Given the description of an element on the screen output the (x, y) to click on. 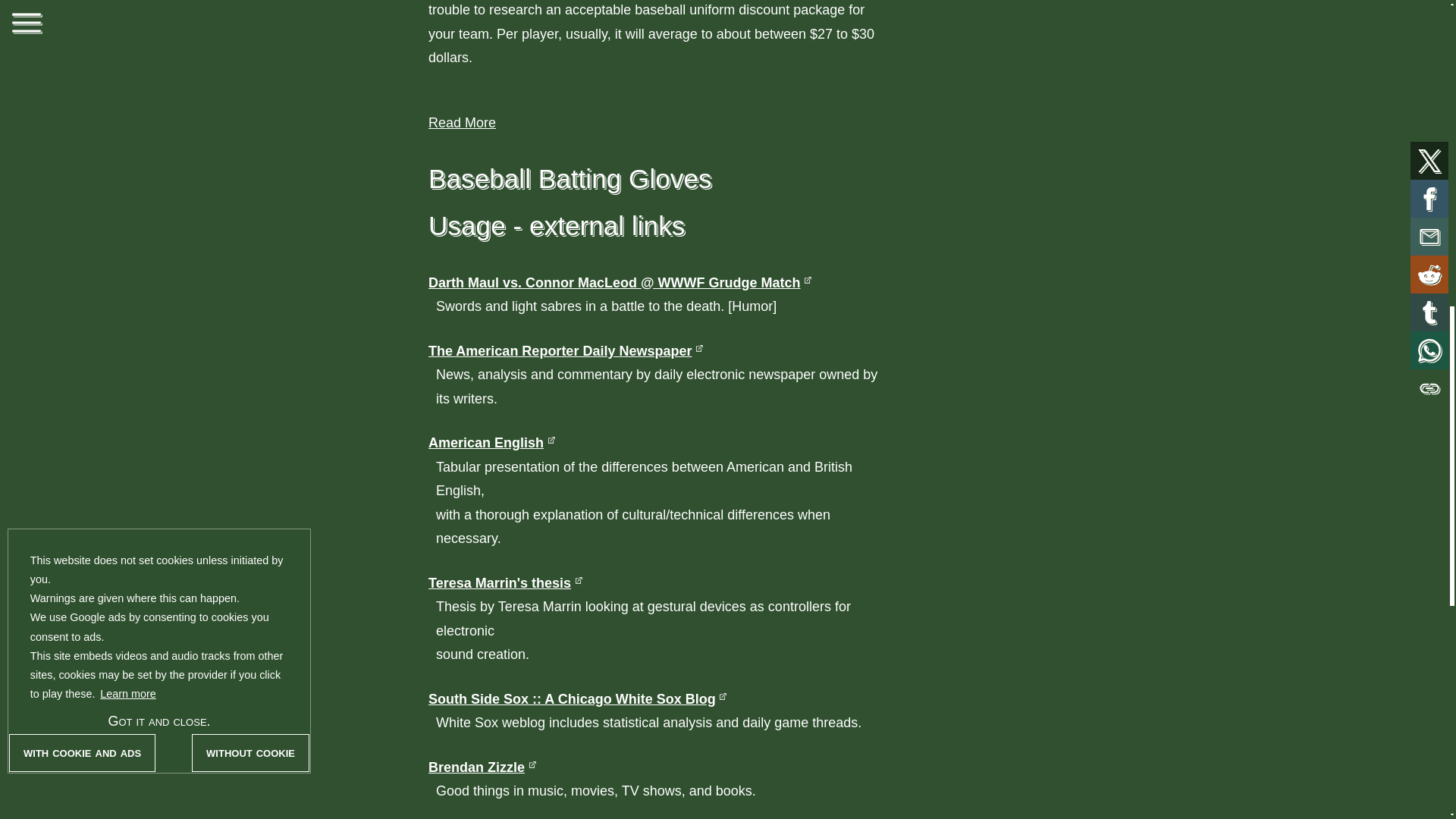
American English (492, 442)
Brendan Zizzle (482, 767)
Teresa Marrin's thesis (505, 582)
Read More (462, 122)
The American Reporter Daily Newspaper (566, 350)
Read More (462, 122)
South Side Sox :: A Chicago White Sox Blog (578, 698)
Read More (462, 122)
